Given the description of an element on the screen output the (x, y) to click on. 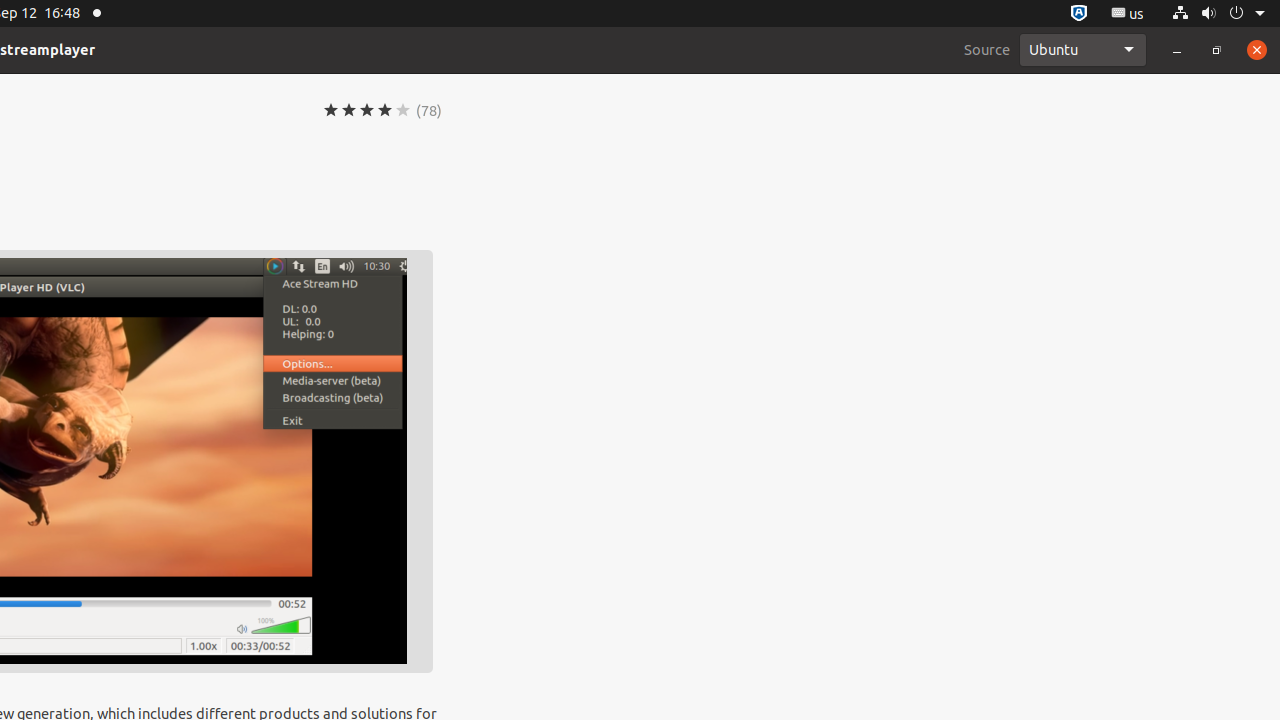
Restore Element type: push-button (1217, 50)
Close Element type: push-button (1257, 50)
Source Element type: label (987, 49)
